Given the description of an element on the screen output the (x, y) to click on. 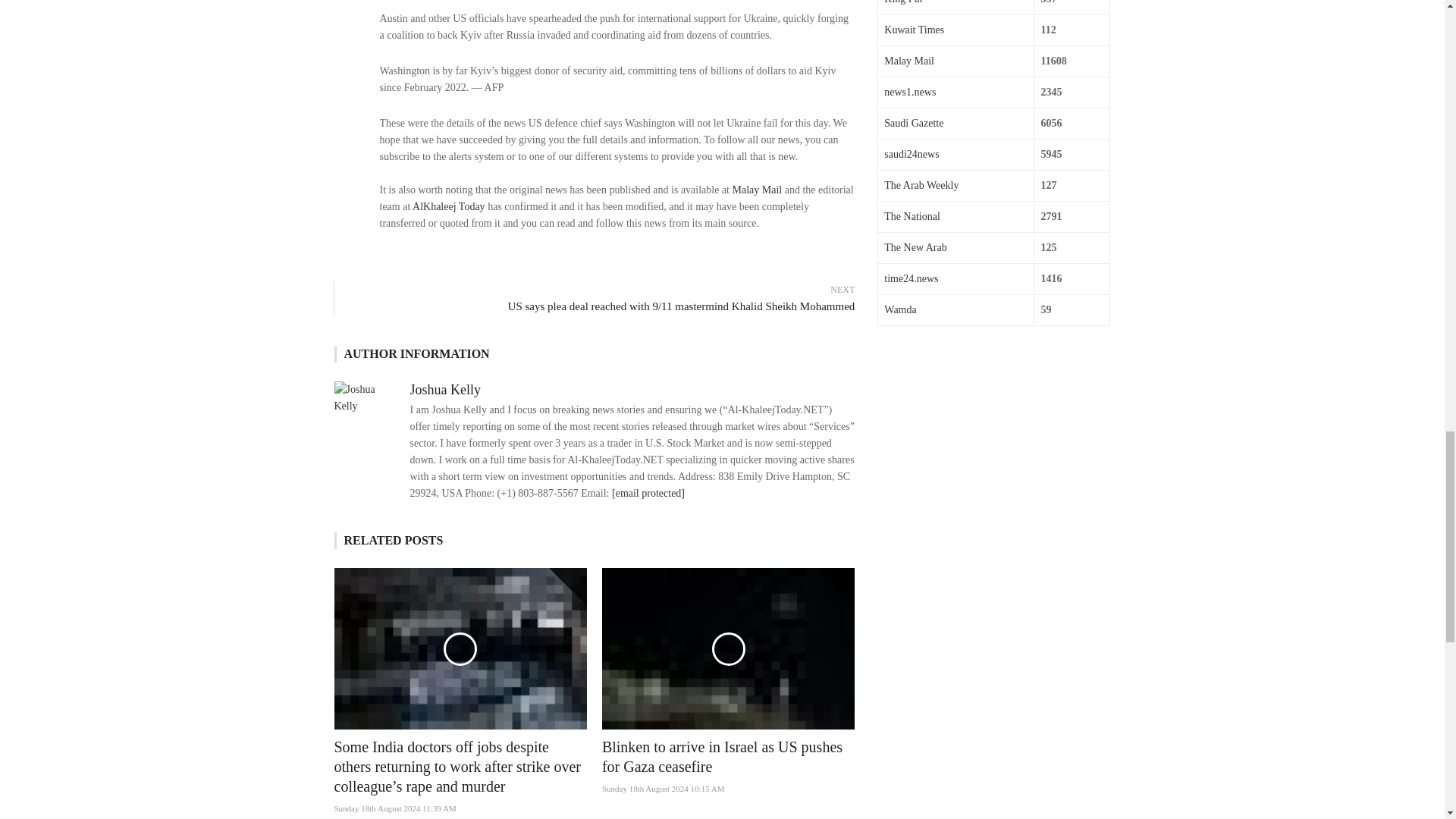
Joshua Kelly (444, 389)
Blinken to arrive in Israel as US pushes for Gaza ceasefire (722, 756)
Malay Mail (757, 189)
AlKhaleej Today (448, 206)
